Given the description of an element on the screen output the (x, y) to click on. 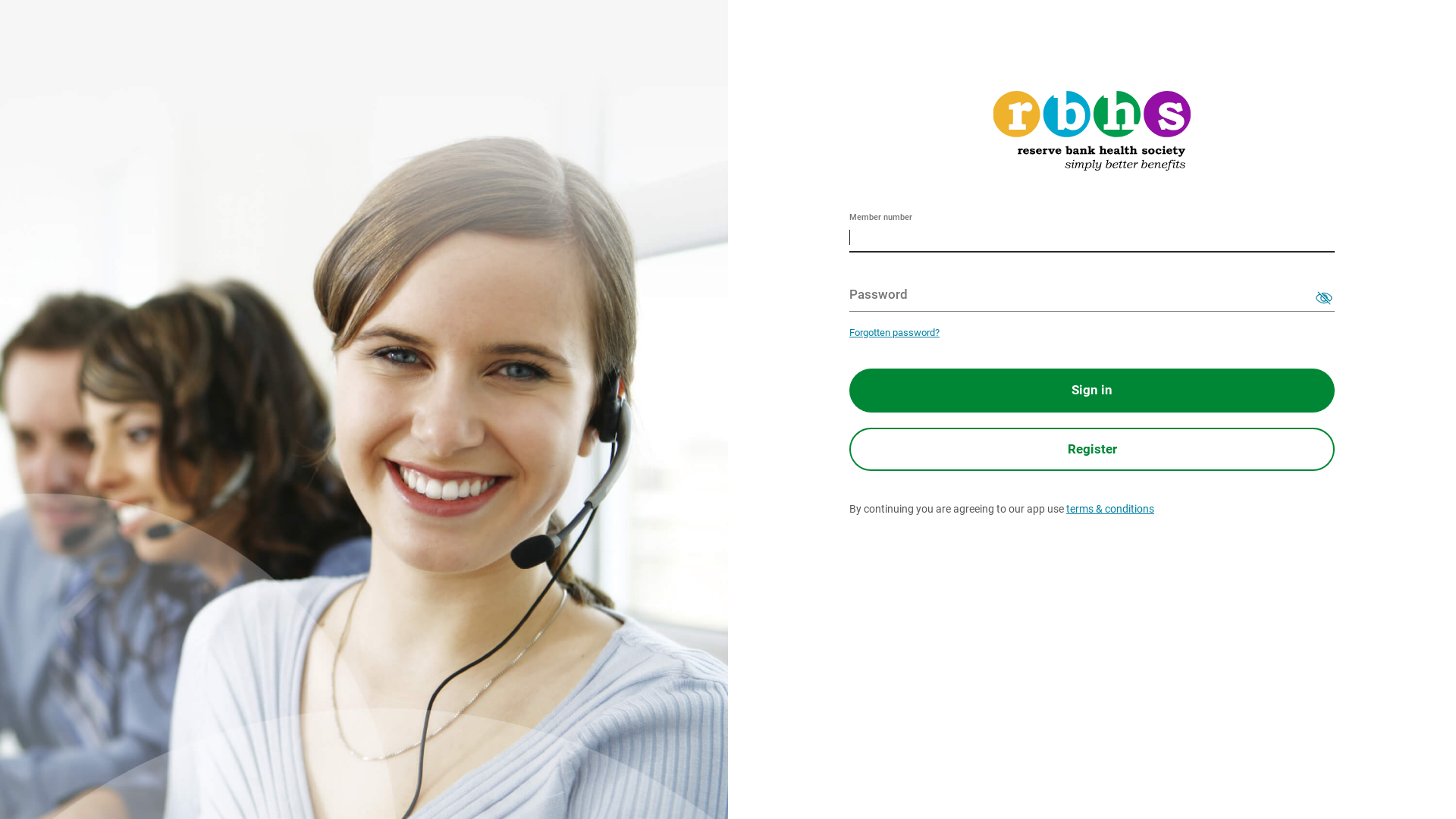
Forgotten password? Element type: text (894, 332)
terms & conditions Element type: text (1110, 508)
Sign in Element type: text (1091, 390)
Register Element type: text (1091, 449)
